Given the description of an element on the screen output the (x, y) to click on. 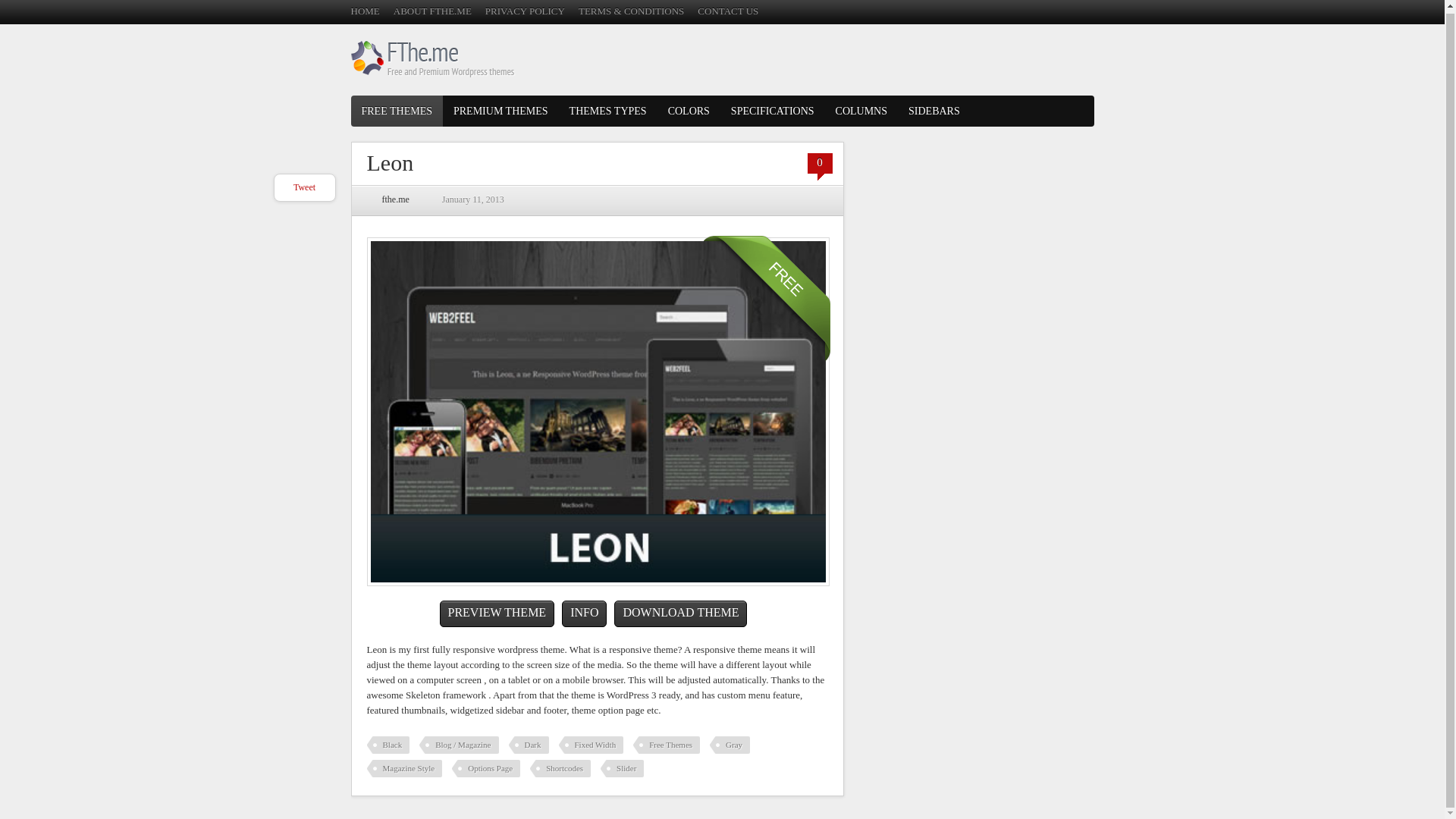
SPECIFICATIONS (772, 110)
COLORS (689, 110)
CONTACT US (727, 10)
THEMES TYPES (608, 110)
HOME (364, 10)
FREE THEMES (396, 110)
PRIVACY POLICY (524, 10)
PREMIUM THEMES (500, 110)
ABOUT FTHE.ME (432, 10)
